Given the description of an element on the screen output the (x, y) to click on. 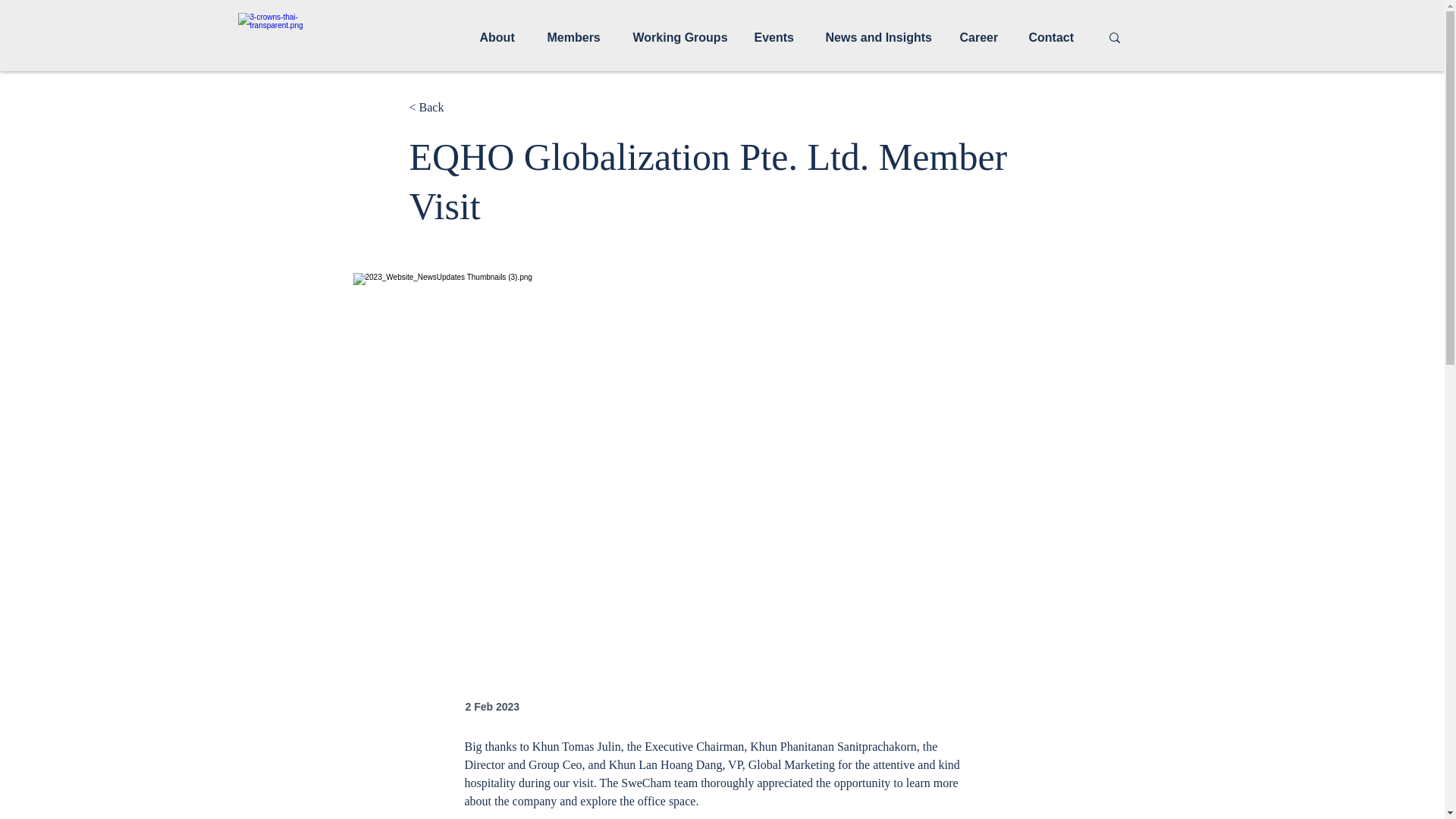
Working Groups (681, 37)
Contact (1055, 37)
